Given the description of an element on the screen output the (x, y) to click on. 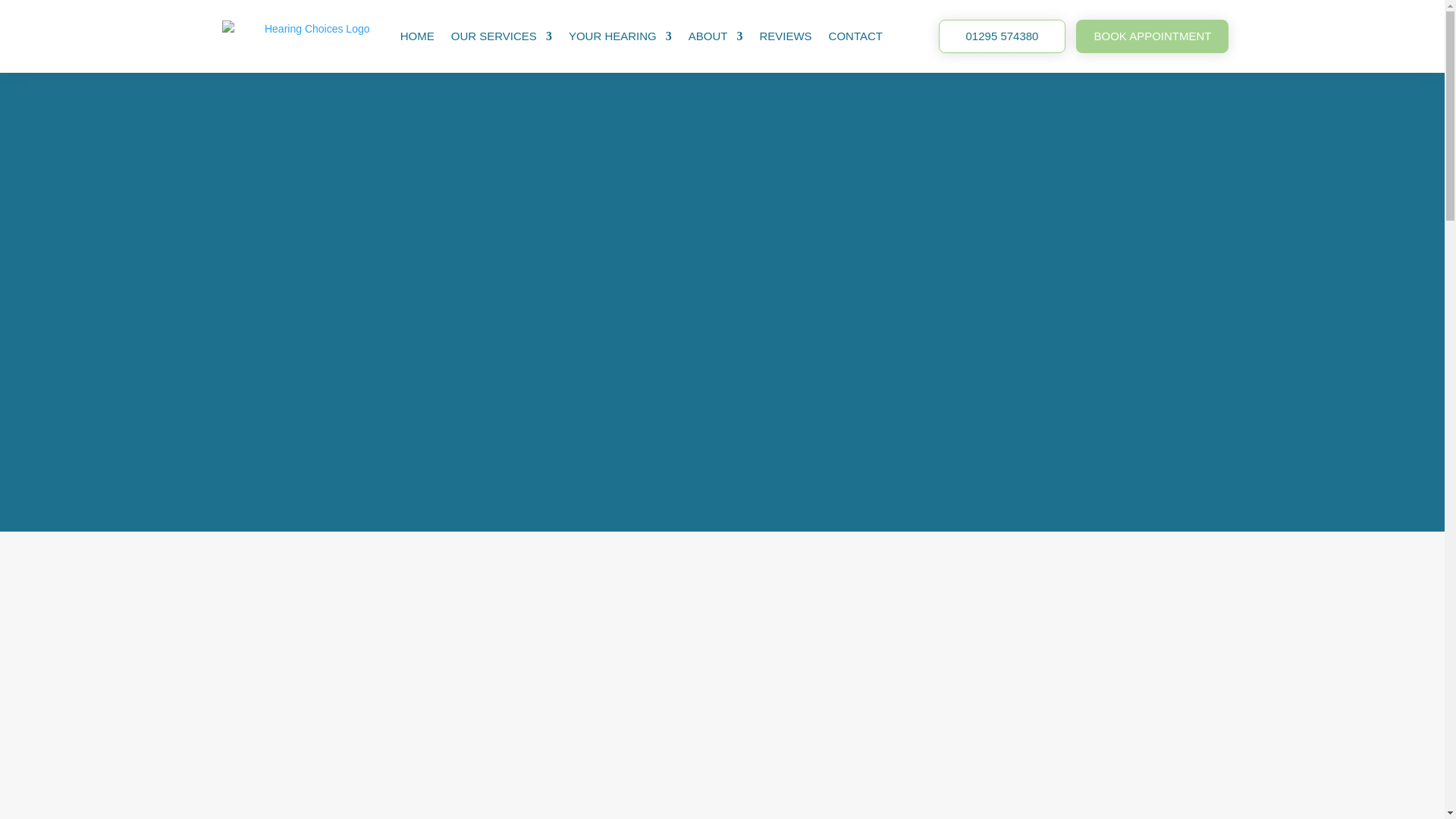
01295 574380 (1002, 36)
OUR SERVICES (501, 36)
REVIEWS (784, 36)
CONTACT (855, 36)
ABOUT (715, 36)
BOOK APPOINTMENT (1151, 36)
YOUR HEARING (620, 36)
